Given the description of an element on the screen output the (x, y) to click on. 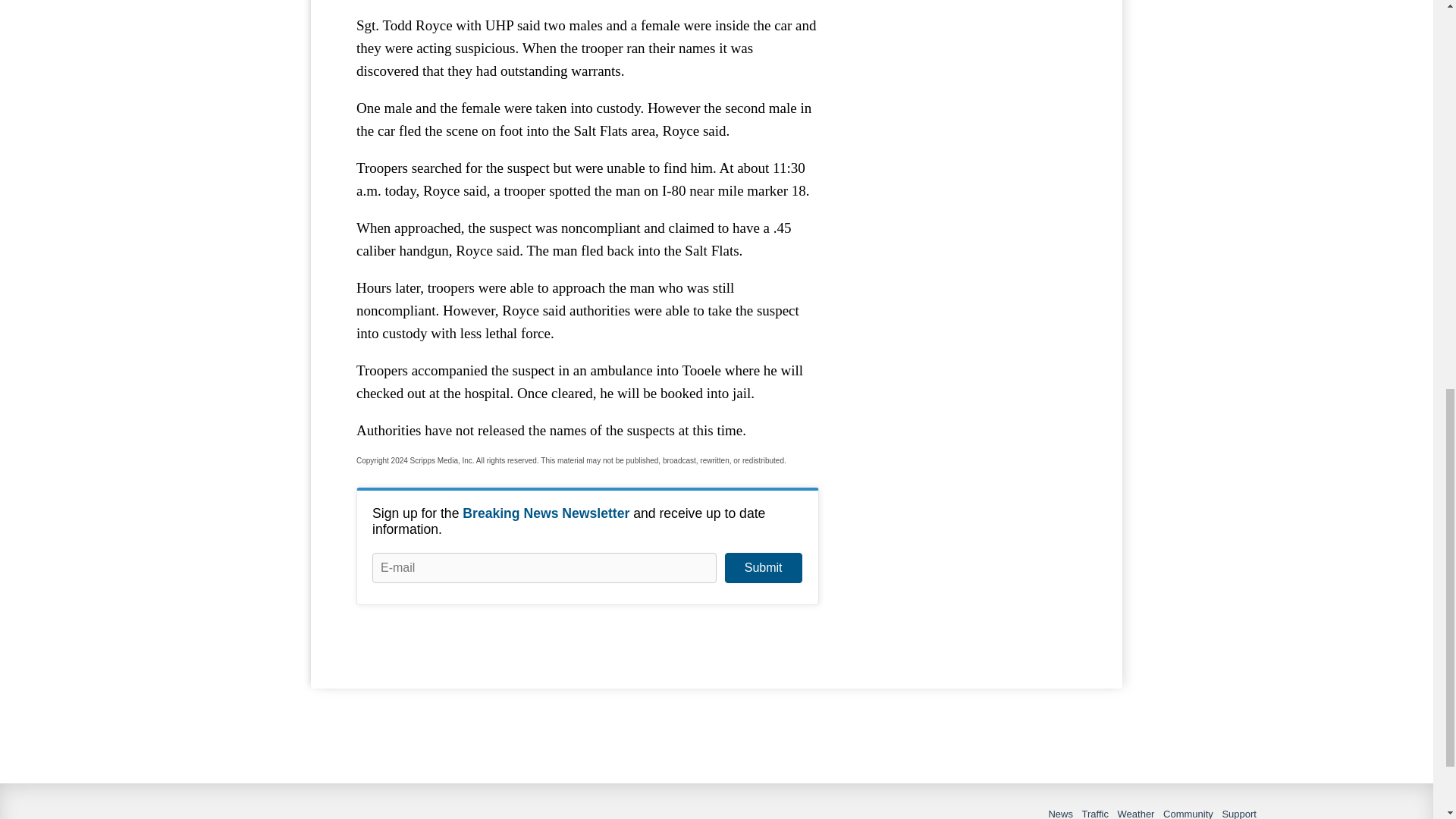
Submit (763, 567)
